Given the description of an element on the screen output the (x, y) to click on. 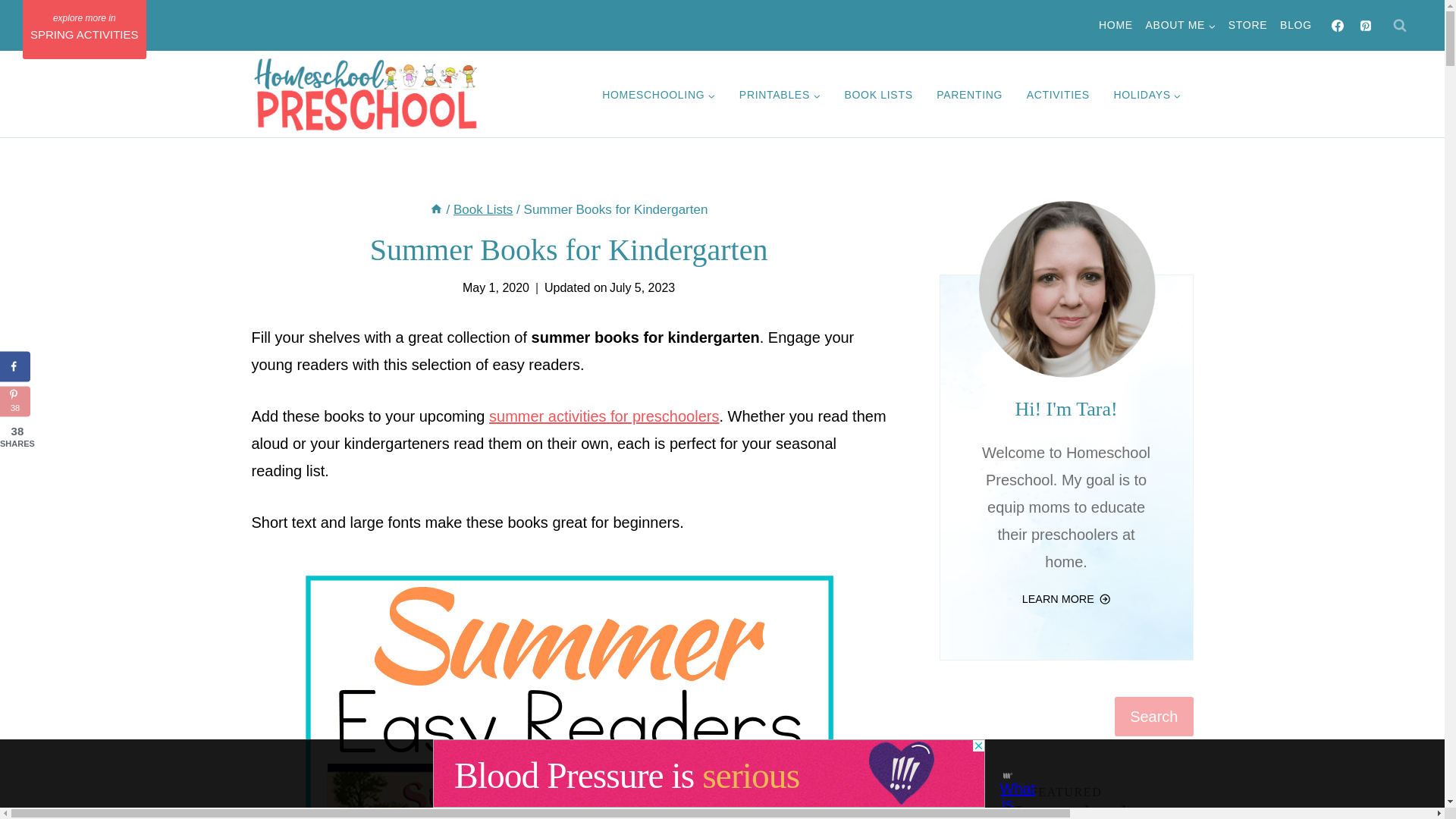
Book Lists (482, 209)
PARENTING (968, 95)
BOOK LISTS (878, 95)
ABOUT ME (1179, 25)
HOMESCHOOLING (657, 95)
SPRING ACTIVITIES (85, 29)
HOME (1116, 25)
BLOG (1296, 25)
ACTIVITIES (1058, 95)
Home (435, 209)
PRINTABLES (779, 95)
STORE (1246, 25)
HOLIDAYS (1147, 95)
summer activities for preschoolers (604, 416)
